Given the description of an element on the screen output the (x, y) to click on. 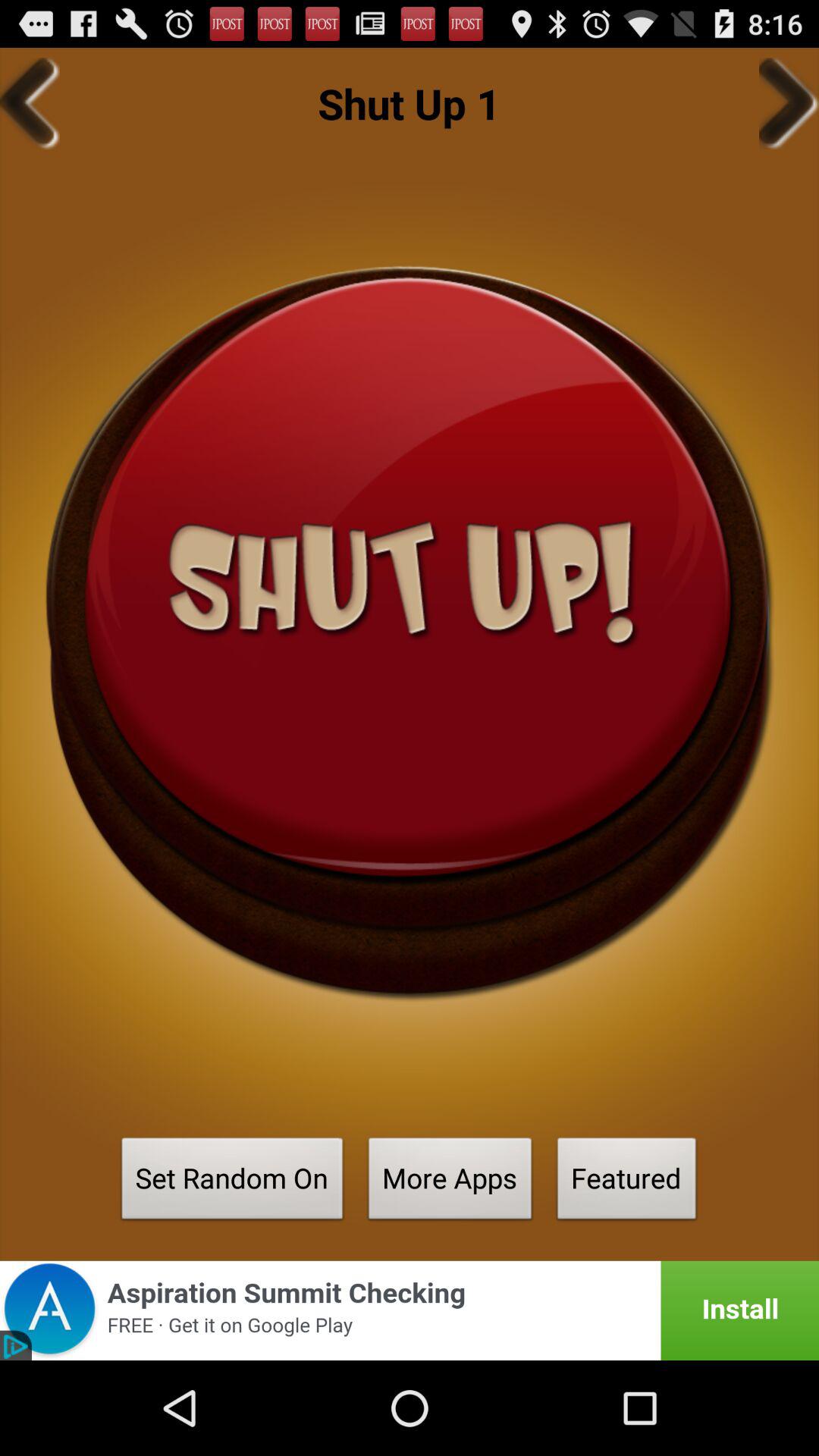
display next feature (789, 103)
